Given the description of an element on the screen output the (x, y) to click on. 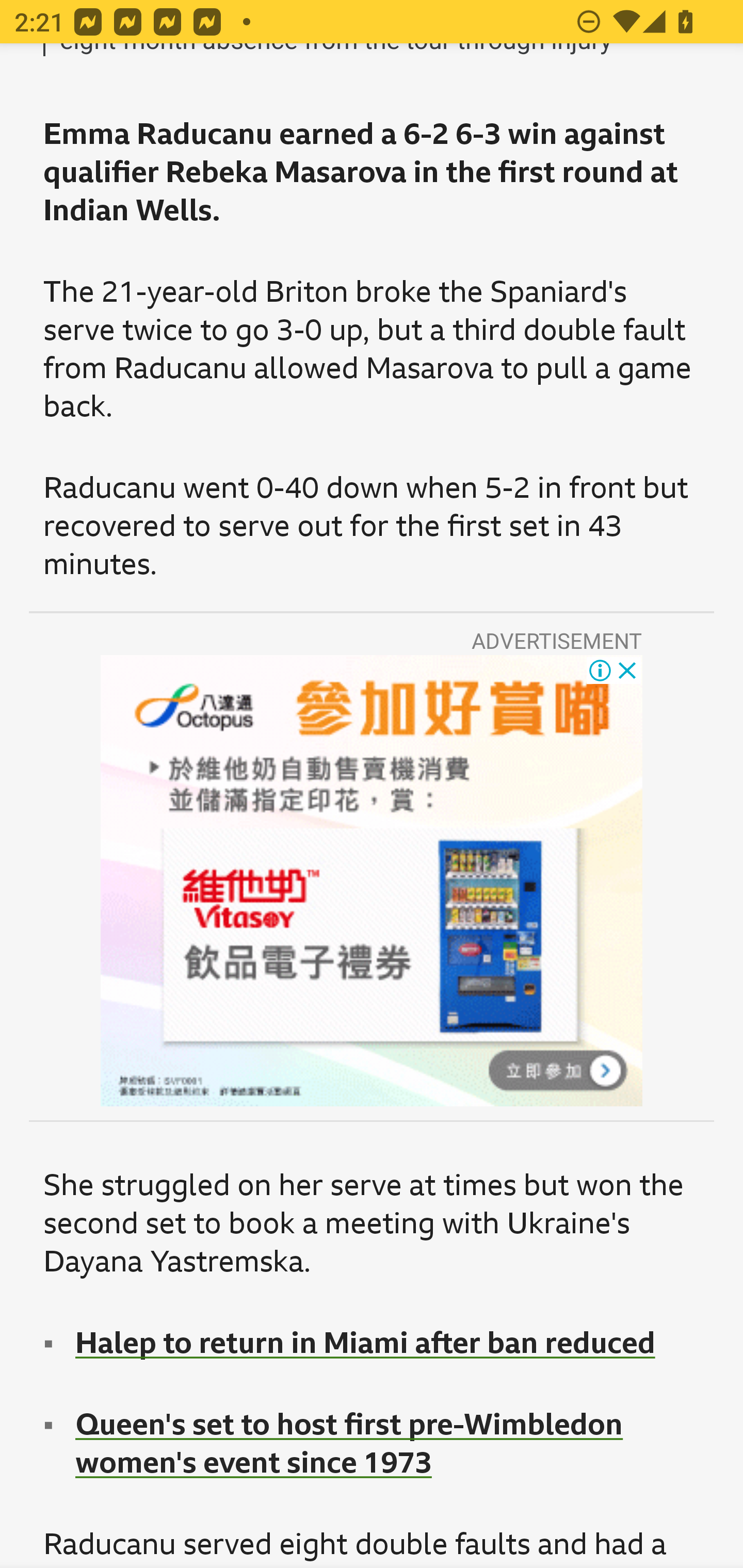
Advertisement (371, 881)
